Given the description of an element on the screen output the (x, y) to click on. 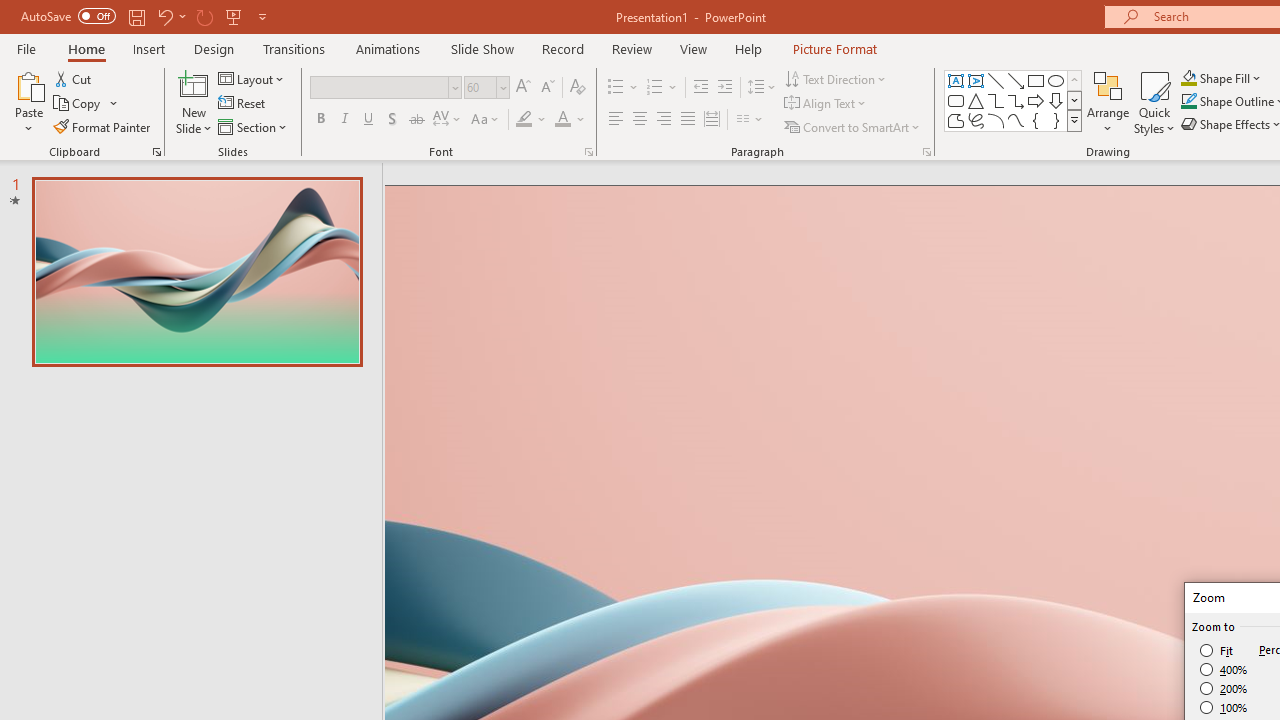
Freeform: Shape (955, 120)
Font Size (486, 87)
Increase Font Size (522, 87)
Align Left (616, 119)
Arrow: Down (1055, 100)
Paste (28, 84)
Text Highlight Color Yellow (524, 119)
Font (385, 87)
Section (254, 126)
Copy (78, 103)
